Given the description of an element on the screen output the (x, y) to click on. 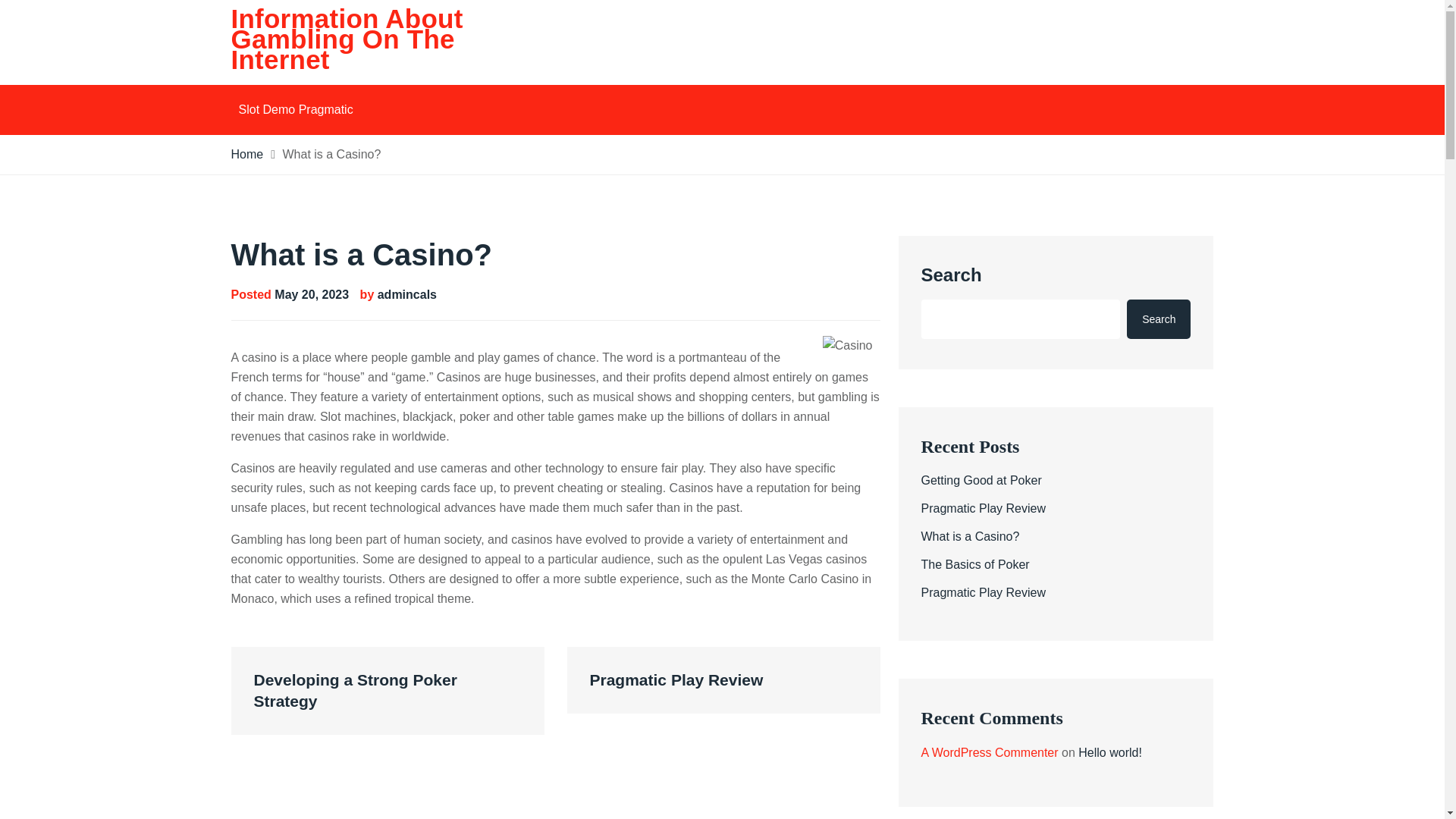
Getting Good at Poker (980, 480)
Hello world! (1109, 752)
The Basics of Poker (974, 563)
Pragmatic Play Review (982, 508)
Information About Gambling On The Internet (346, 39)
A WordPress Commenter (989, 752)
admincals (406, 294)
Search (1158, 319)
Slot Demo Pragmatic (294, 110)
What is a Casino? (969, 535)
